Given the description of an element on the screen output the (x, y) to click on. 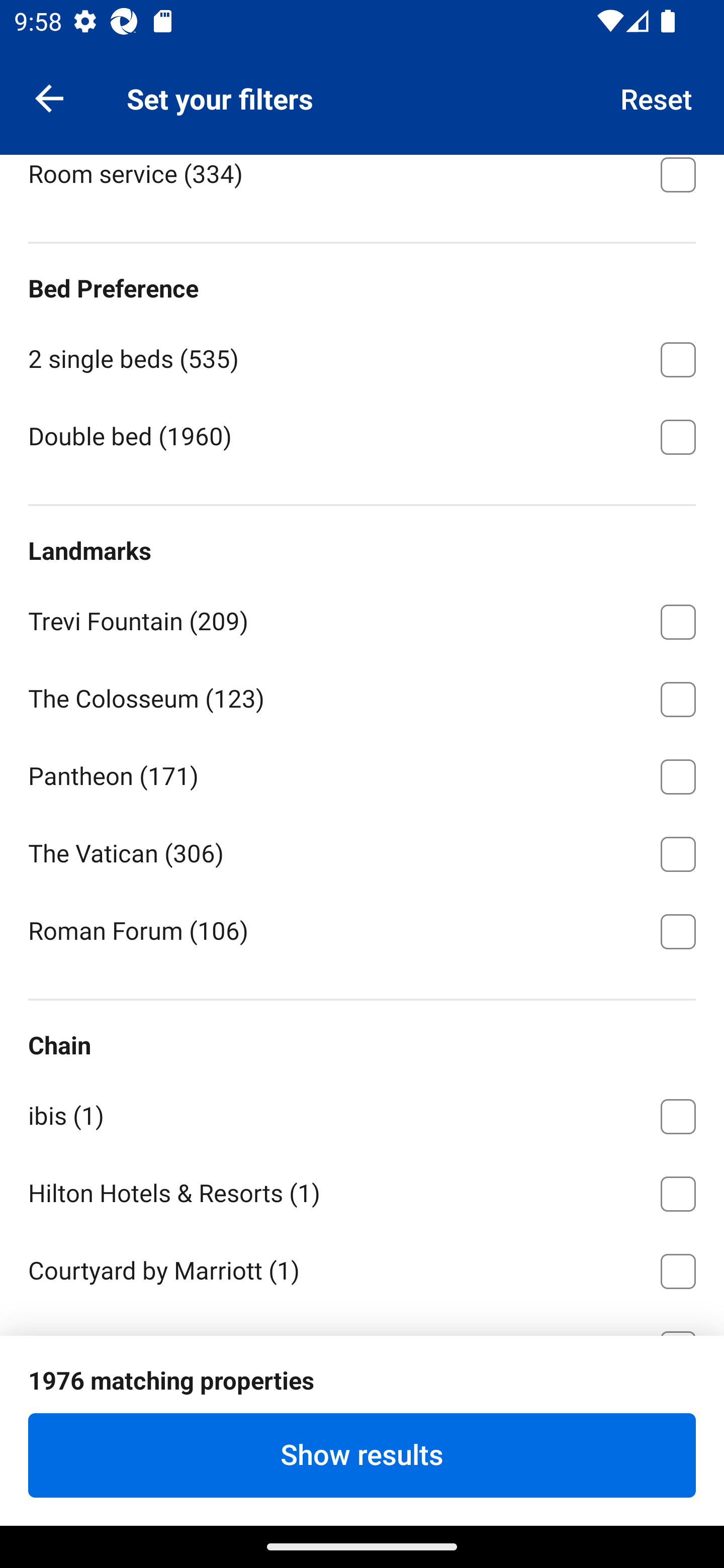
Navigate up (49, 97)
Electric vehicle charging station ⁦(278) (361, 93)
Reset (656, 97)
Room service ⁦(334) (361, 184)
2 single beds ⁦(535) (361, 356)
Double bed ⁦(1960) (361, 435)
Trevi Fountain ⁦(209) (361, 618)
The Colosseum ⁦(123) (361, 695)
Pantheon ⁦(171) (361, 773)
The Vatican ⁦(306) (361, 850)
Roman Forum ⁦(106) (361, 929)
ibis ⁦(1) (361, 1113)
Hilton Hotels & Resorts ⁦(1) (361, 1190)
Courtyard by Marriott ⁦(1) (361, 1267)
Show results (361, 1454)
